Given the description of an element on the screen output the (x, y) to click on. 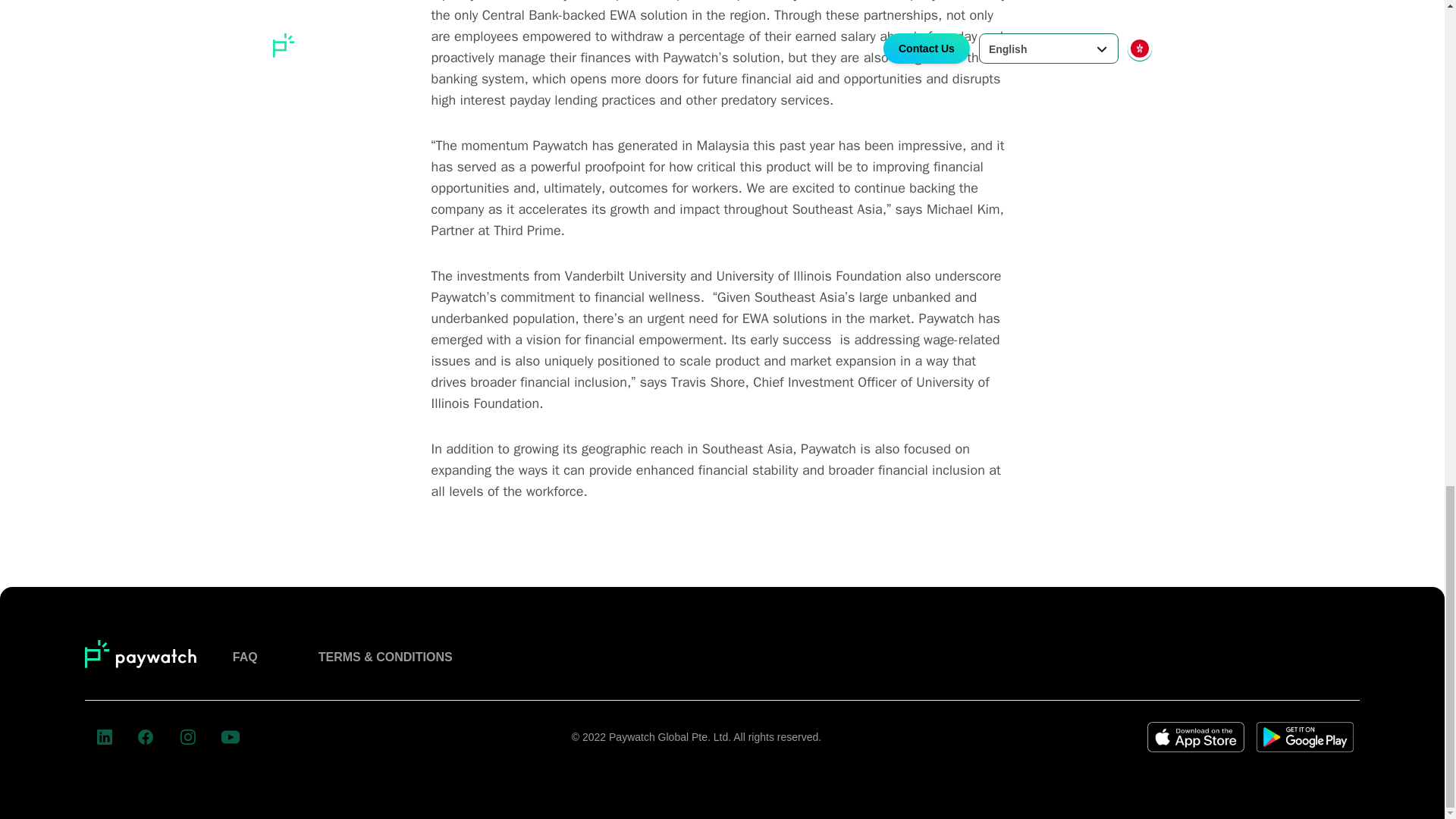
FAQ (244, 656)
